Given the description of an element on the screen output the (x, y) to click on. 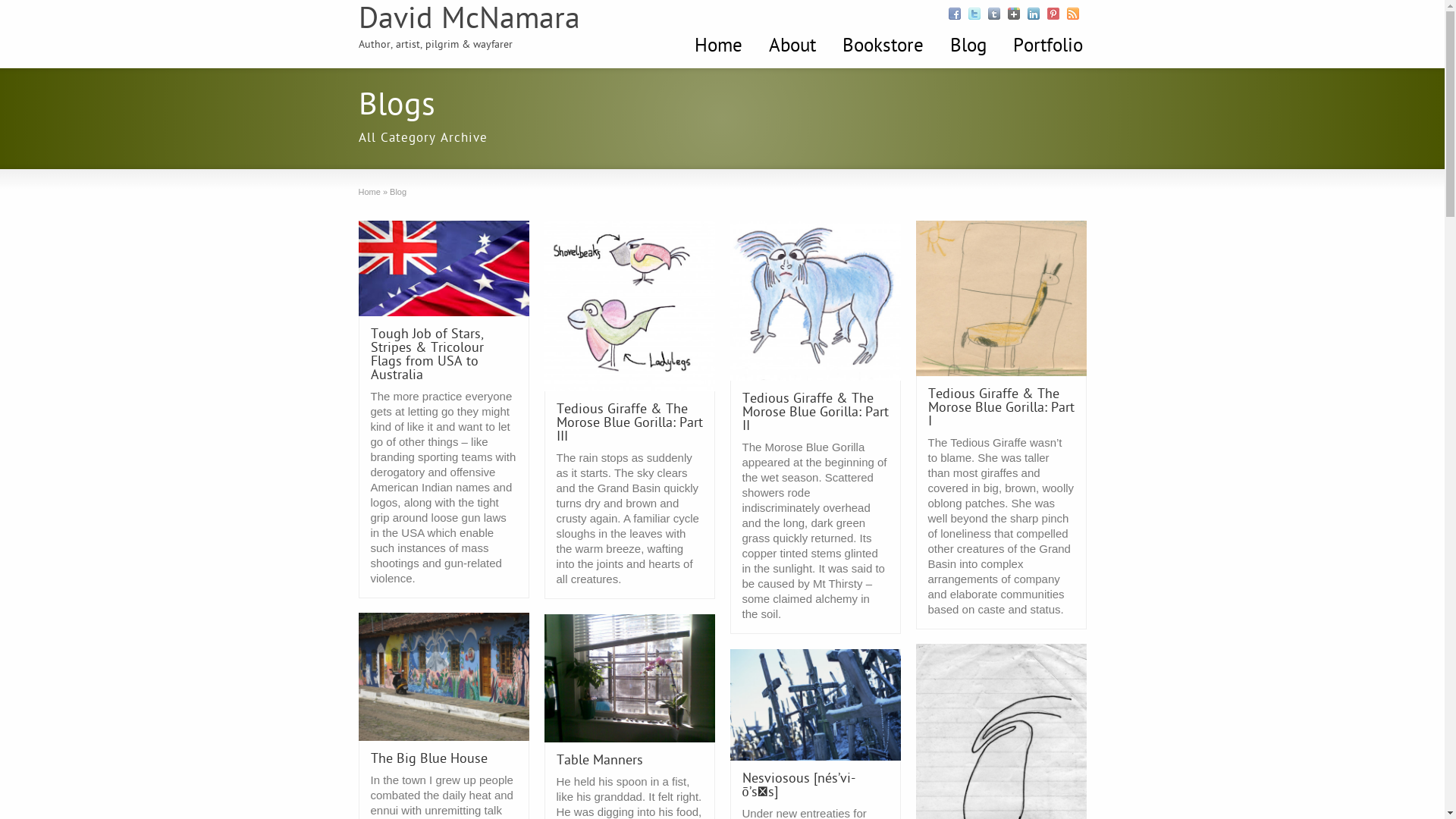
The Big Blue House Element type: text (428, 759)
Tedious Giraffe & The Morose Blue Gorilla: Part III Element type: text (629, 423)
Follow Me Twitter Element type: hover (973, 13)
Follow Me Google + Element type: hover (1013, 13)
Tedious Giraffe & The Morose Blue Gorilla: Part I Element type: text (1001, 407)
David McNamara Element type: text (468, 20)
About Element type: text (791, 47)
Follow Me Facebook Element type: hover (953, 13)
Follow Me Pinterest Element type: hover (1052, 13)
Blog Element type: text (967, 47)
Home Element type: text (717, 47)
Bookstore Element type: text (883, 47)
Table Manners Element type: text (599, 760)
Home Element type: text (368, 191)
Follow Me RSS Element type: hover (1072, 13)
Follow Me Linkedin Element type: hover (1032, 13)
Permanent Link to Table Manners Element type: hover (629, 678)
Follow Me Tumblr Element type: hover (993, 13)
Portfolio Element type: text (1047, 47)
Tedious Giraffe & The Morose Blue Gorilla: Part II Element type: text (814, 412)
Permanent Link to The Big Blue House Element type: hover (442, 676)
